Given the description of an element on the screen output the (x, y) to click on. 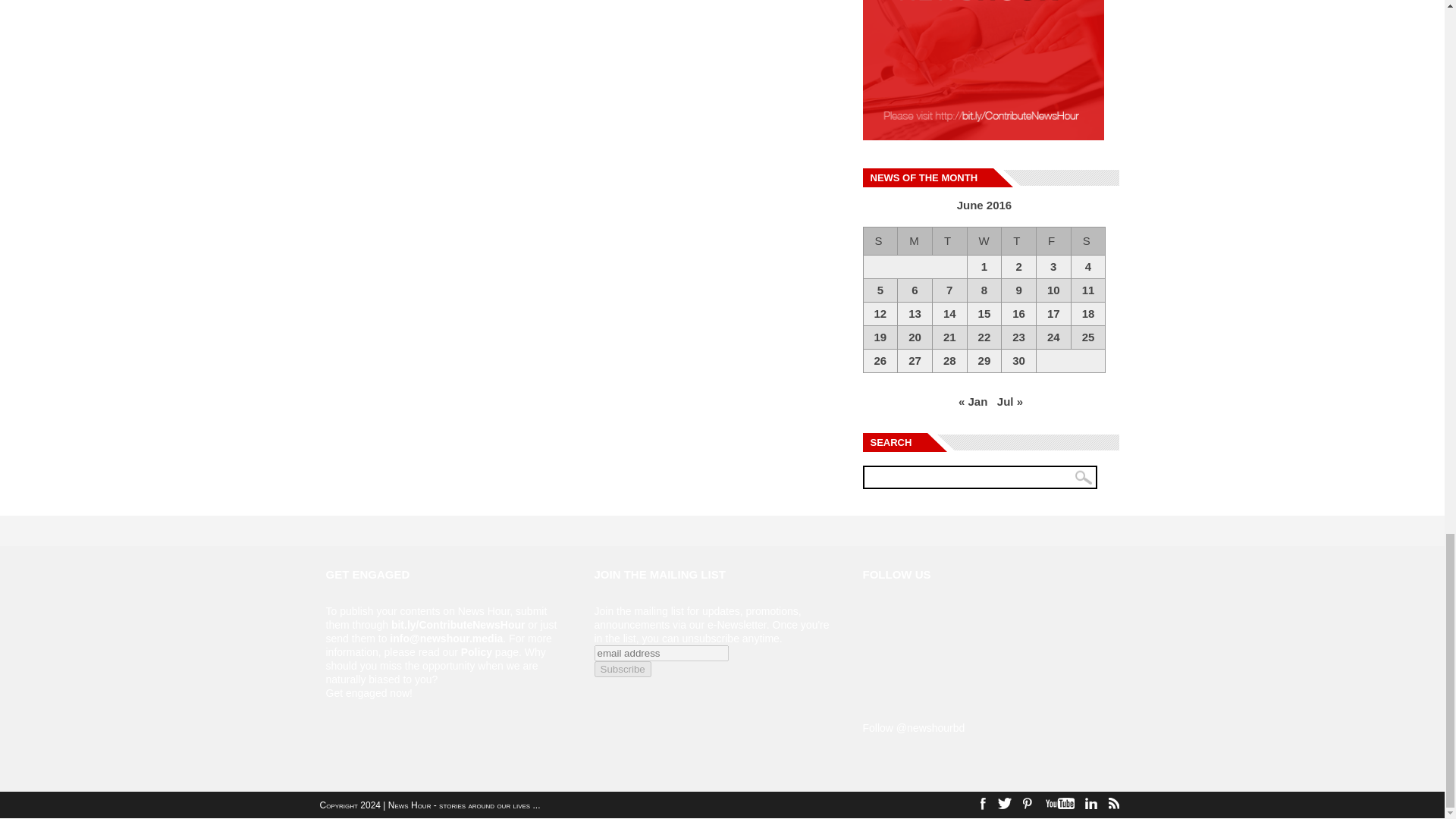
Subscribe (622, 668)
